Given the description of an element on the screen output the (x, y) to click on. 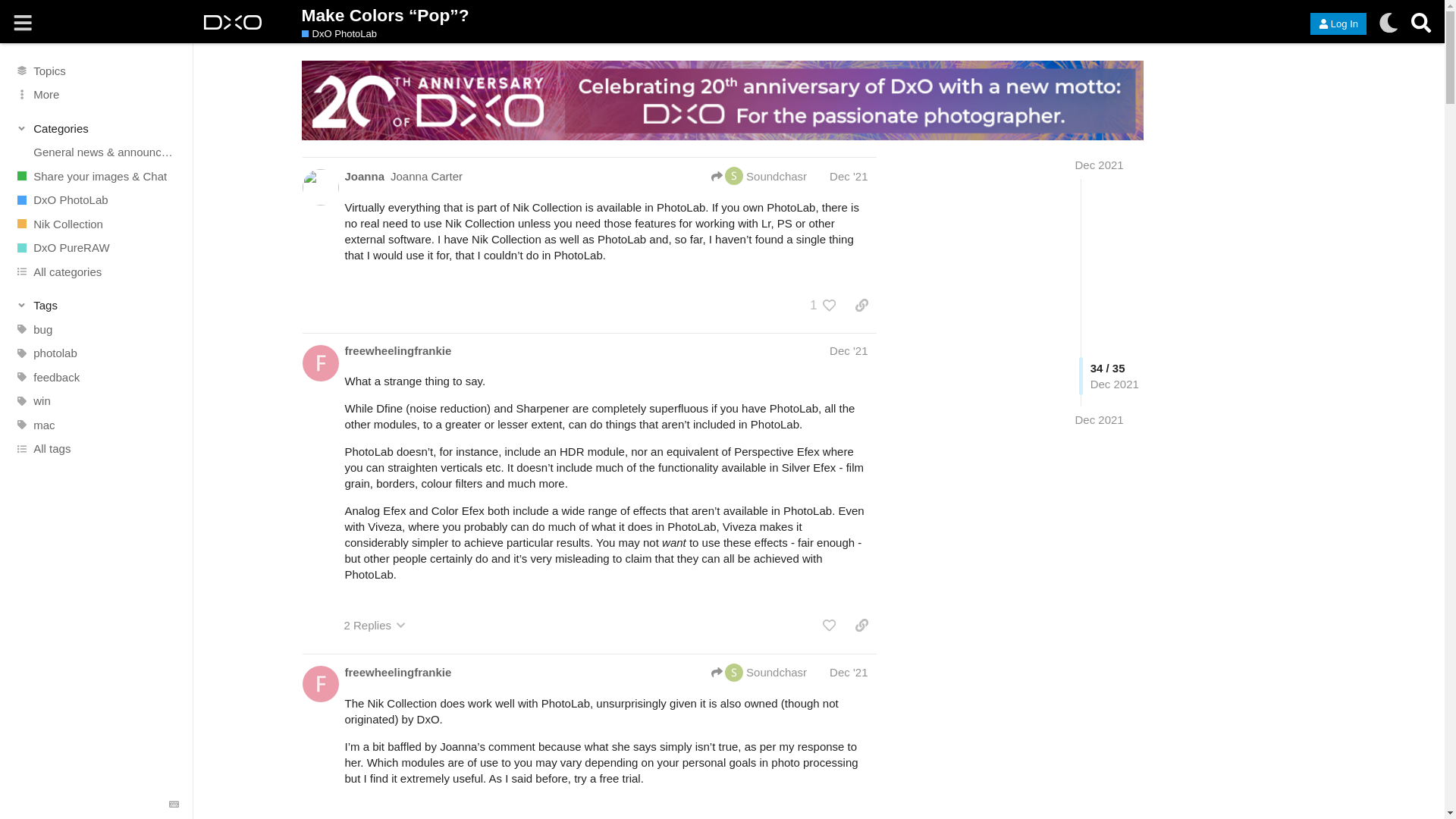
Hide sidebar (23, 22)
photolab (96, 353)
feedback (96, 377)
Dec 2021 (1098, 164)
freewheelingfrankie (397, 350)
Joanna Carter (426, 175)
Dec '21 (848, 175)
All categories (96, 271)
Tags (96, 305)
Categories (96, 127)
All tags (96, 448)
Soundchasr (759, 176)
DxO PureRAW (96, 247)
All topics (96, 70)
